Given the description of an element on the screen output the (x, y) to click on. 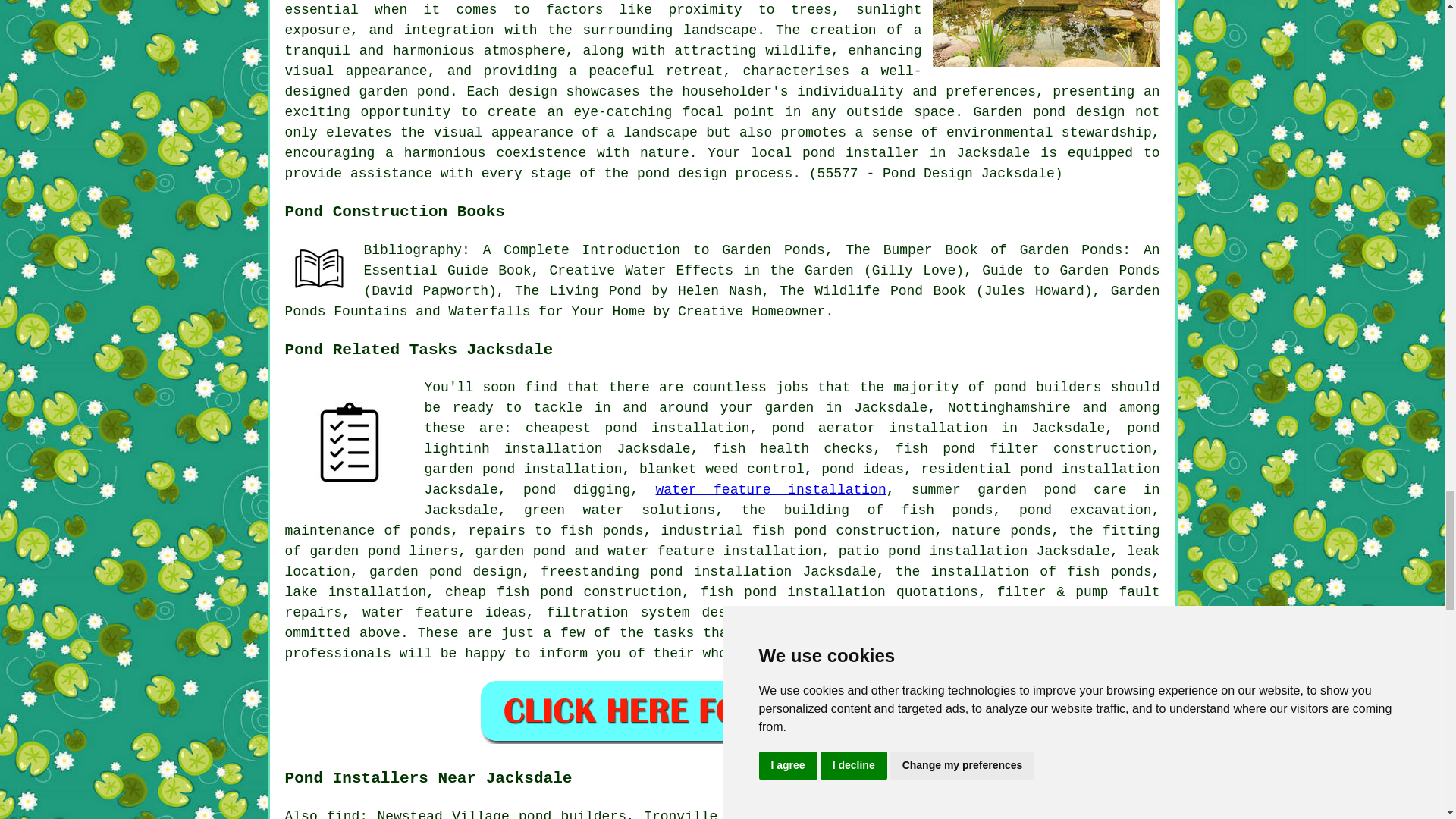
Pond Design Jacksdale (1046, 33)
